Given the description of an element on the screen output the (x, y) to click on. 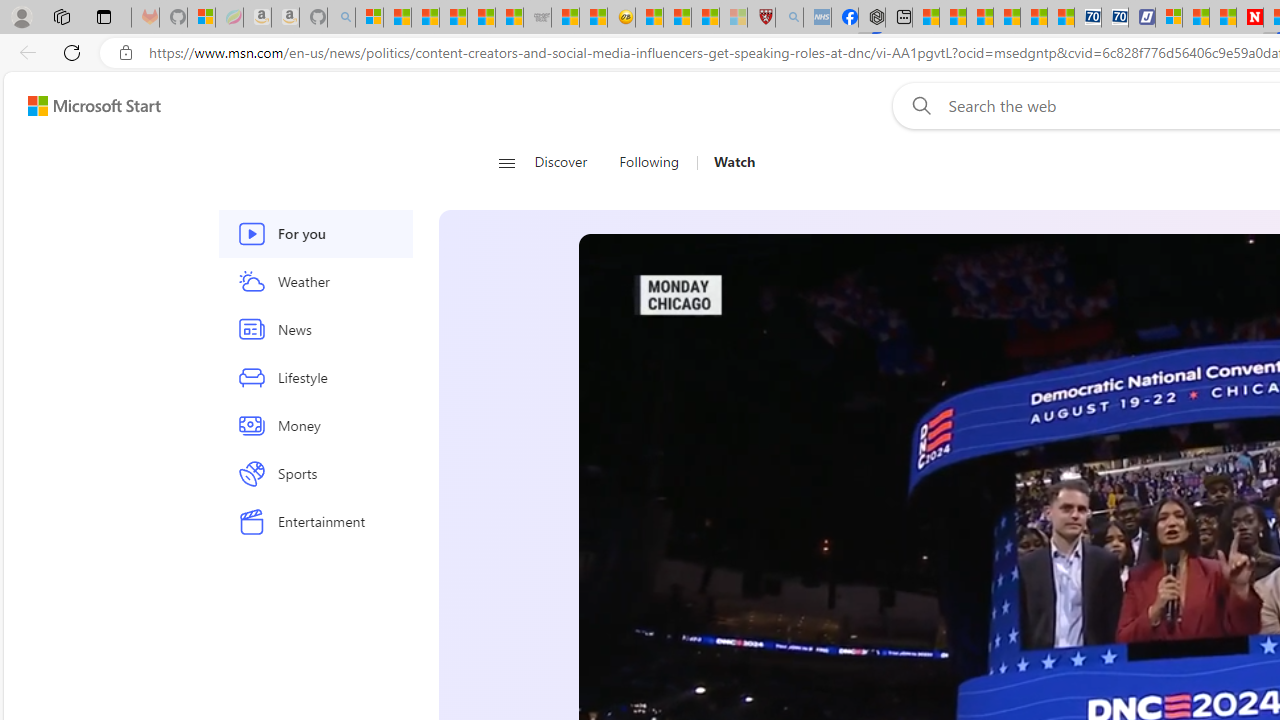
Newsweek - News, Analysis, Politics, Business, Technology (1249, 17)
